Given the description of an element on the screen output the (x, y) to click on. 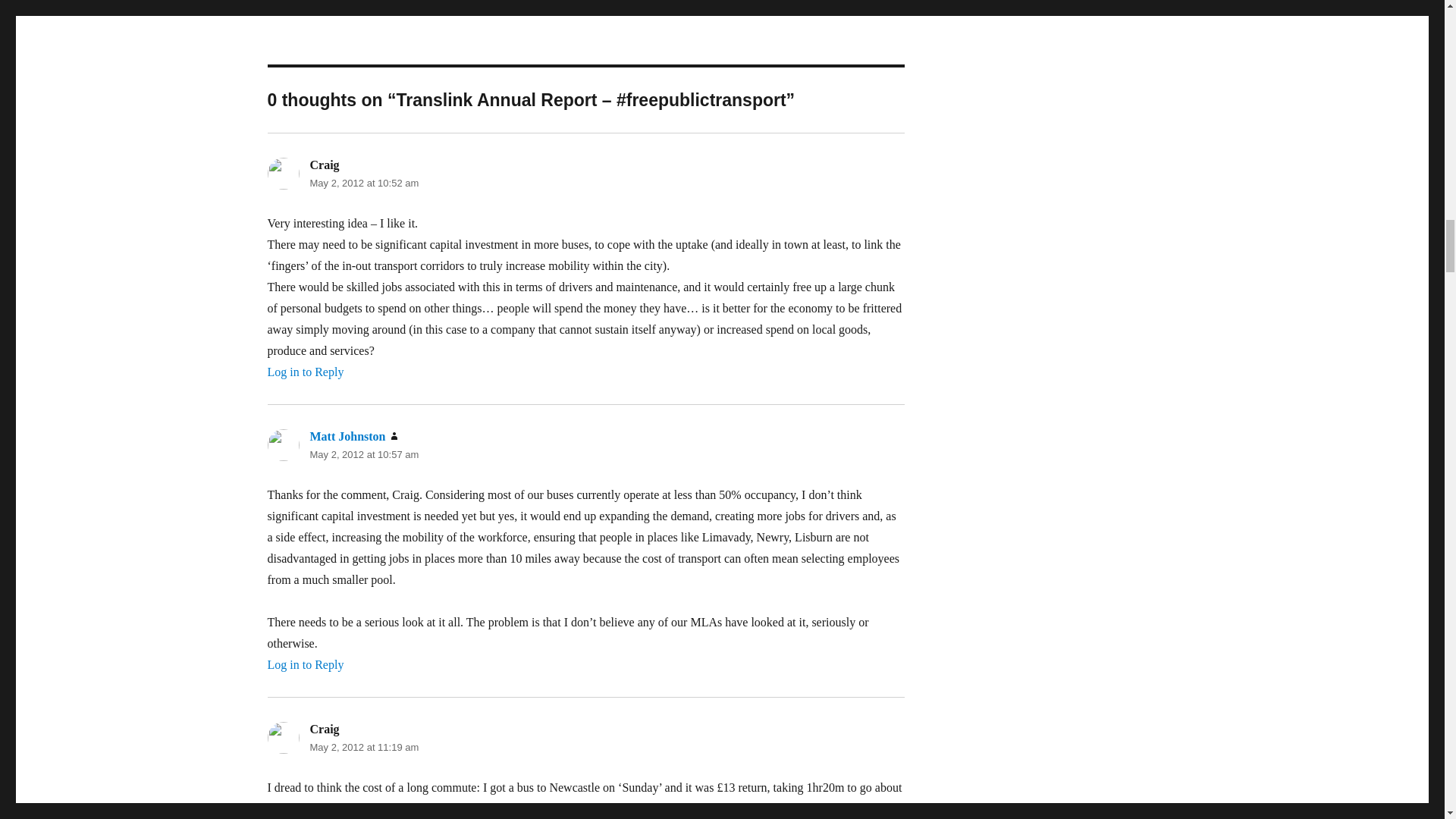
Matt Johnston (346, 436)
Log in to Reply (304, 664)
May 2, 2012 at 10:52 am (363, 183)
Log in to Reply (304, 371)
May 2, 2012 at 11:19 am (363, 747)
May 2, 2012 at 10:57 am (363, 454)
